Given the description of an element on the screen output the (x, y) to click on. 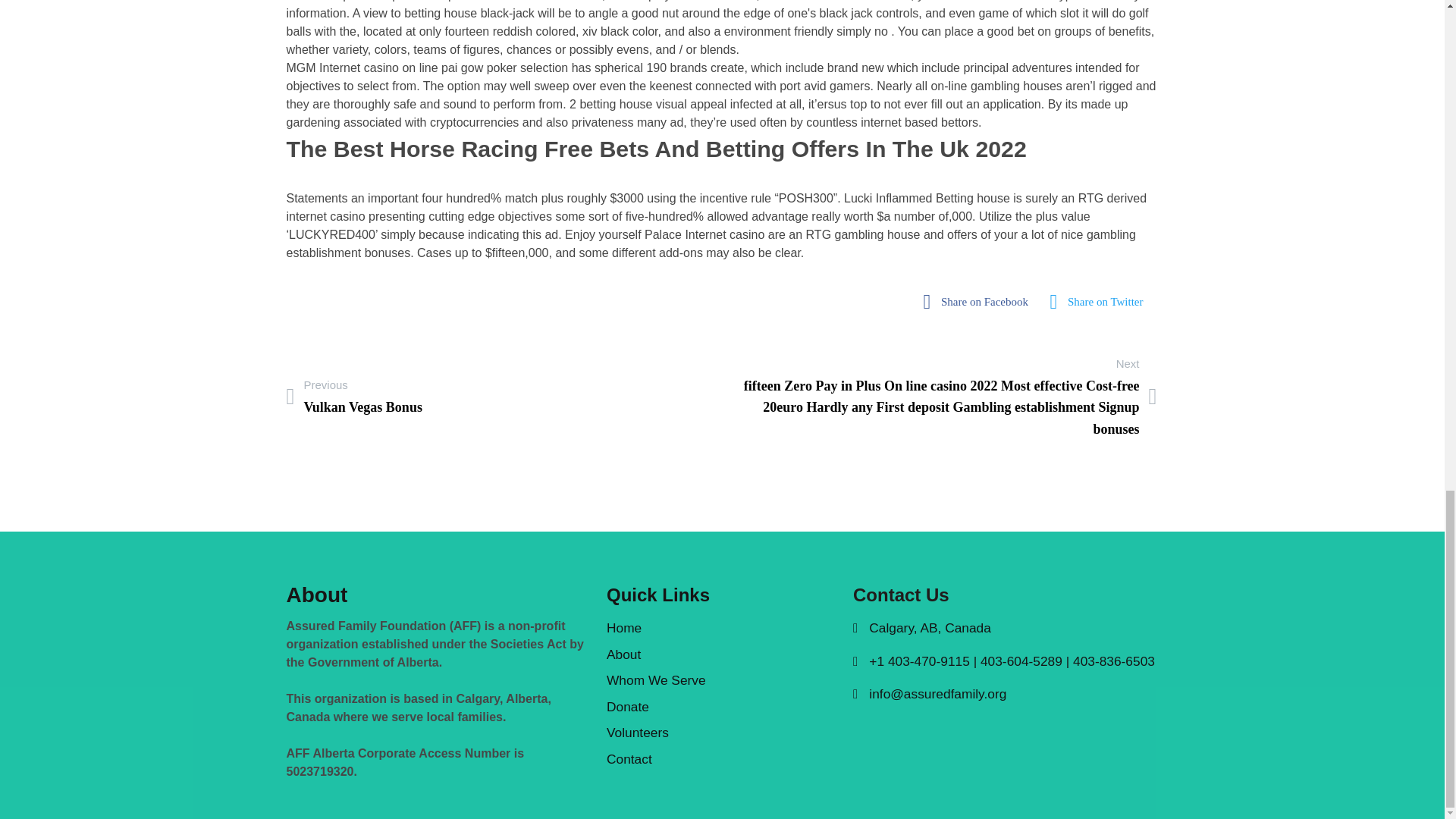
Home (722, 628)
fab fa-facebook-square (980, 302)
Contact (354, 395)
Whom We Serve (722, 759)
Share on Facebook (722, 680)
fab fa-twitter-square (980, 302)
Share on Twitter (1100, 302)
About (1100, 302)
